Given the description of an element on the screen output the (x, y) to click on. 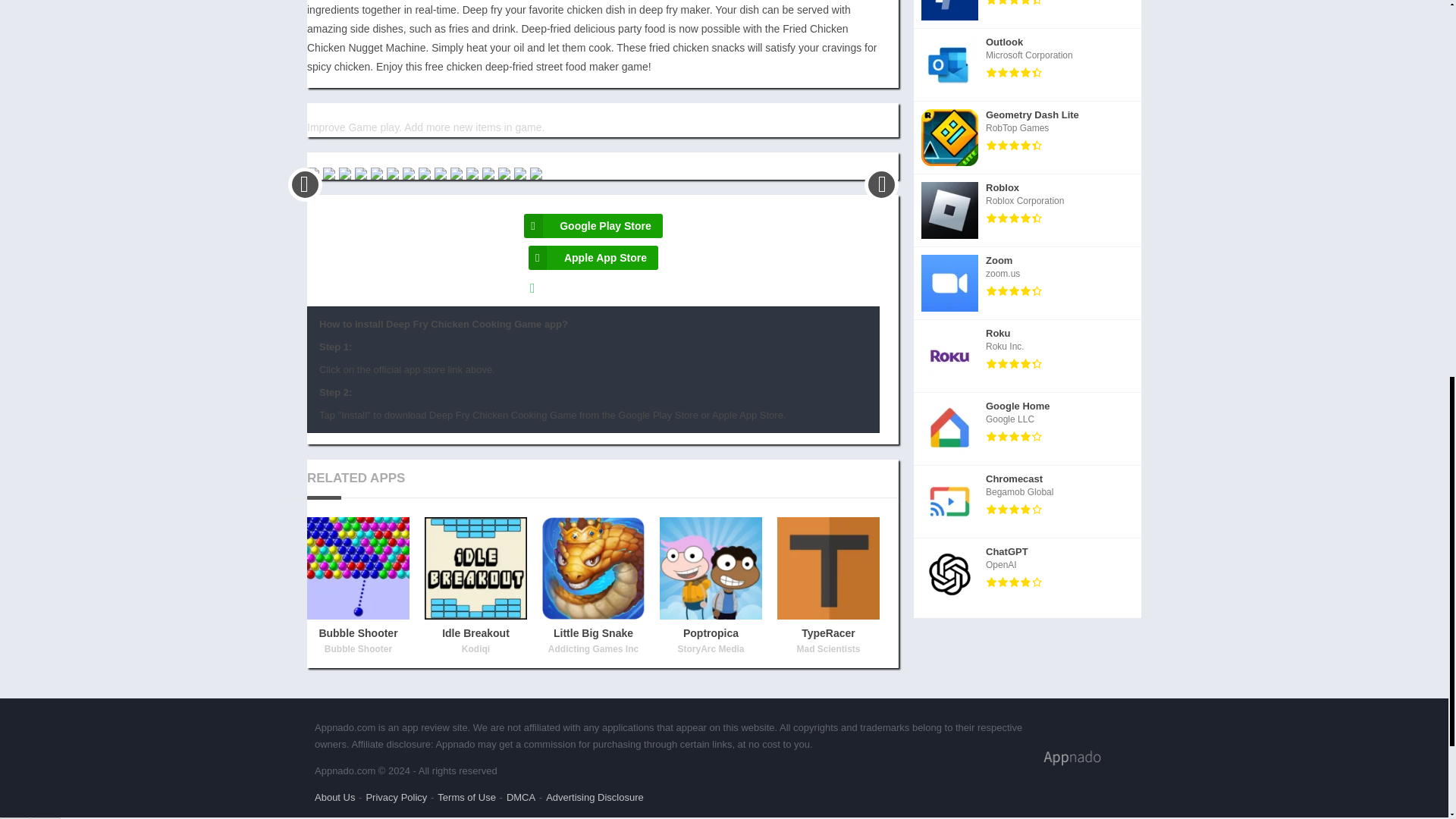
Apple App Store (593, 257)
Google Play Store (1027, 137)
